Given the description of an element on the screen output the (x, y) to click on. 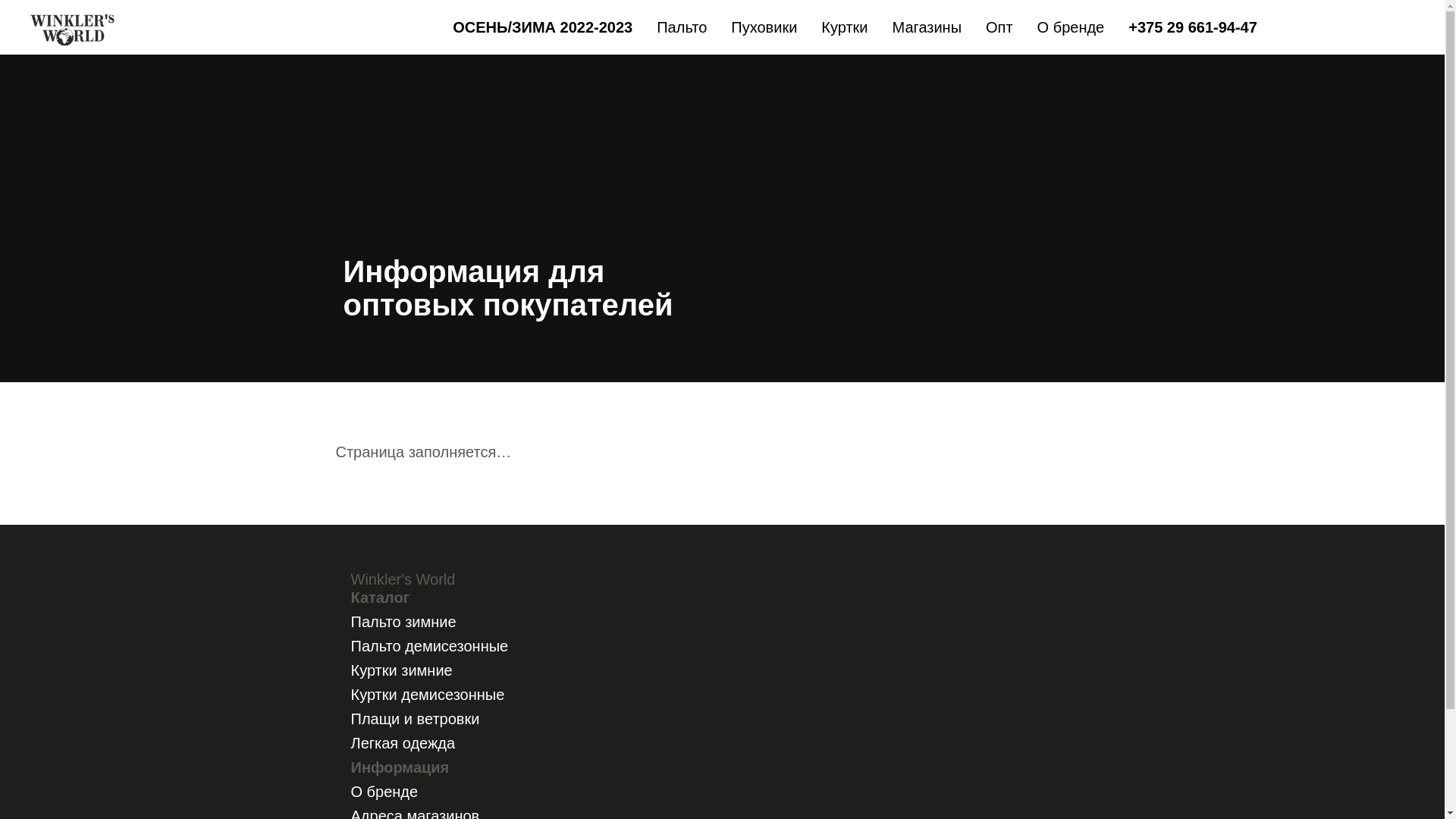
+375 29 661-94-47 Element type: text (1192, 26)
